Given the description of an element on the screen output the (x, y) to click on. 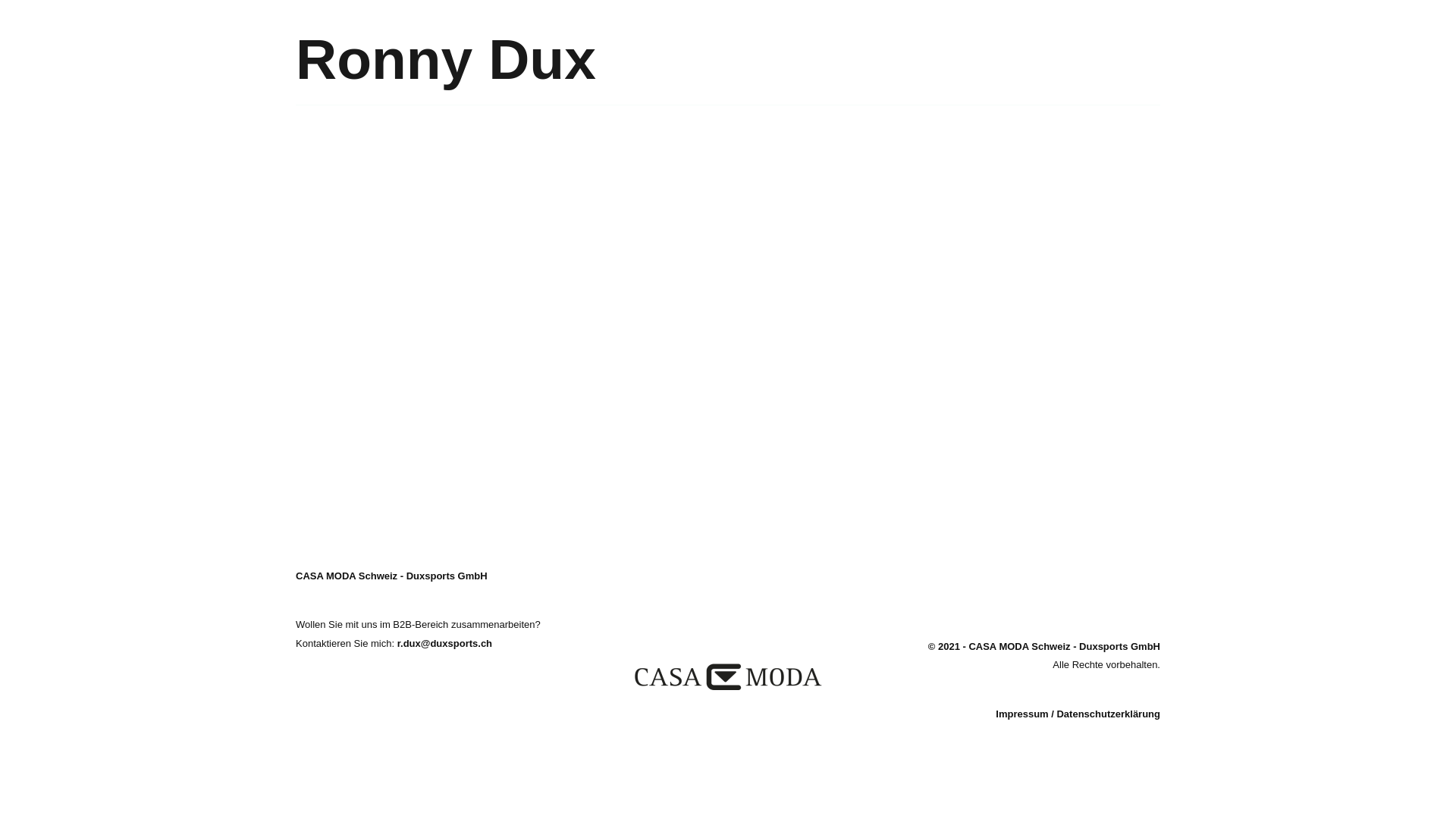
r.dux@duxsports.ch Element type: text (444, 643)
